Given the description of an element on the screen output the (x, y) to click on. 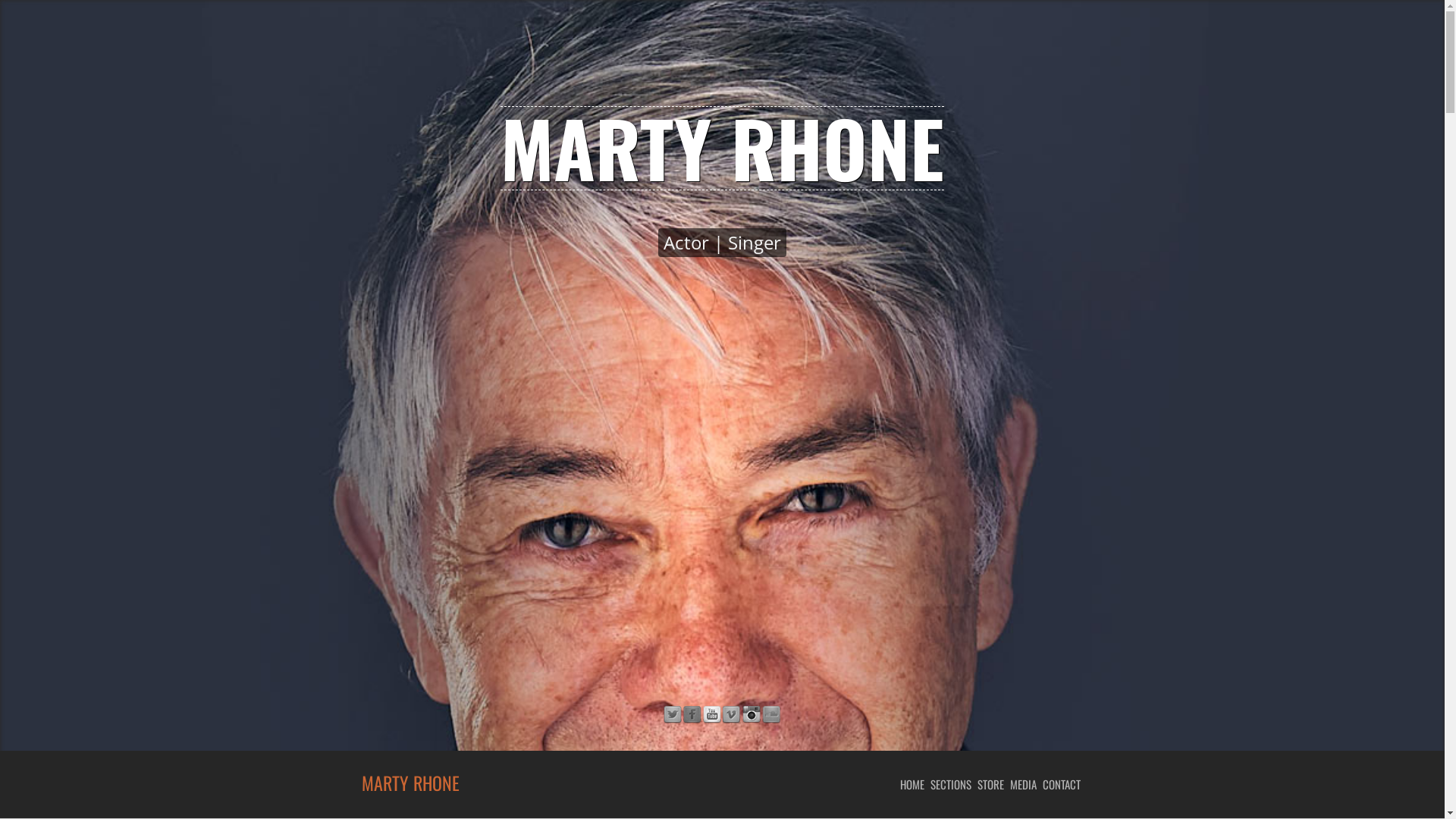
Facebook Element type: text (691, 715)
SECTIONS Element type: text (952, 783)
STORE Element type: text (992, 783)
HOME Element type: text (914, 783)
Soundcloud Element type: text (770, 715)
Twitter Element type: text (671, 715)
Youtube Element type: text (711, 715)
Vimeo Element type: text (730, 715)
MEDIA Element type: text (1026, 783)
Instagram Element type: text (750, 715)
CONTACT Element type: text (1063, 783)
